Given the description of an element on the screen output the (x, y) to click on. 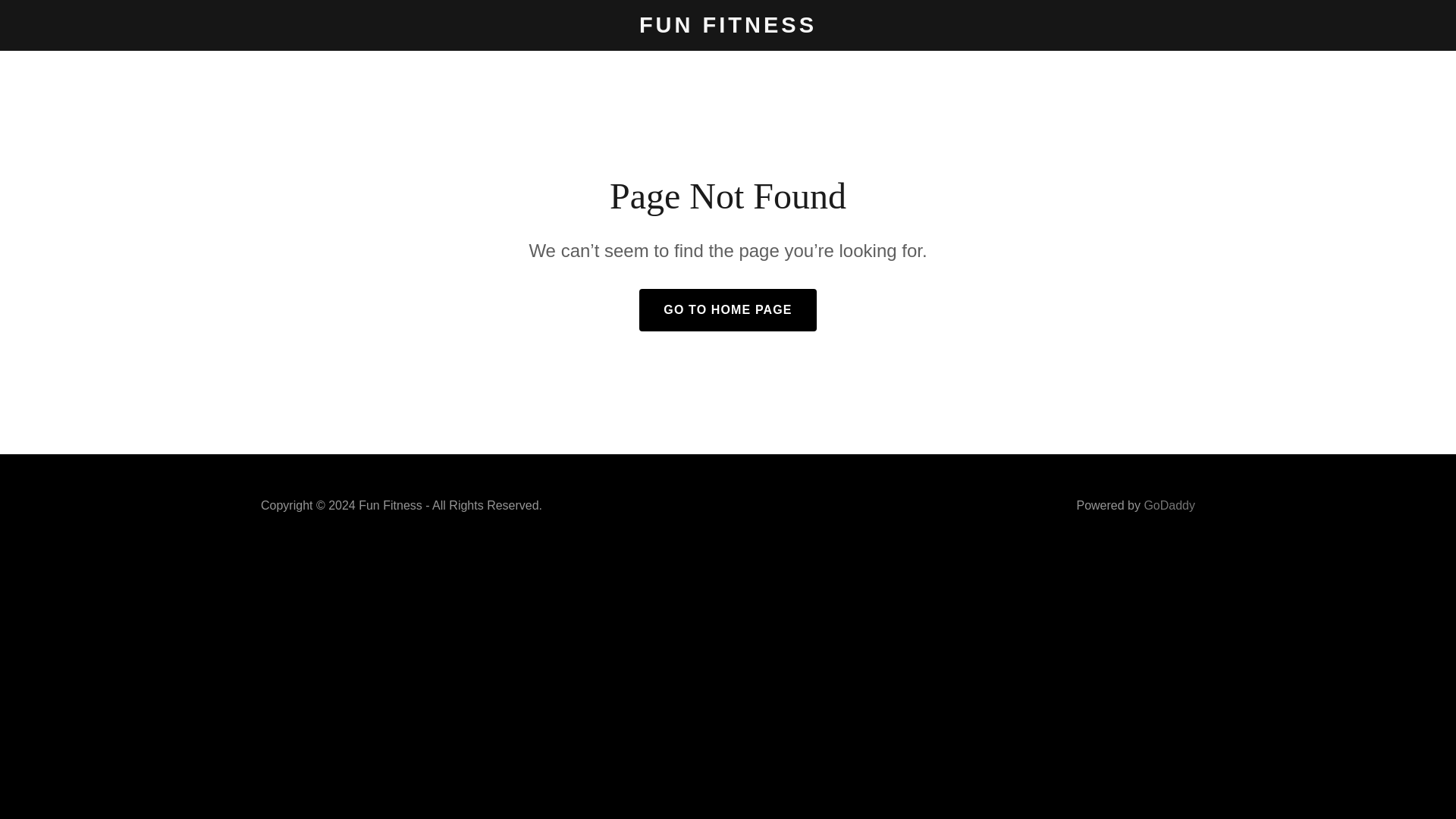
Fun Fitness (727, 28)
FUN FITNESS (727, 28)
GO TO HOME PAGE (727, 310)
GoDaddy (1168, 504)
